Given the description of an element on the screen output the (x, y) to click on. 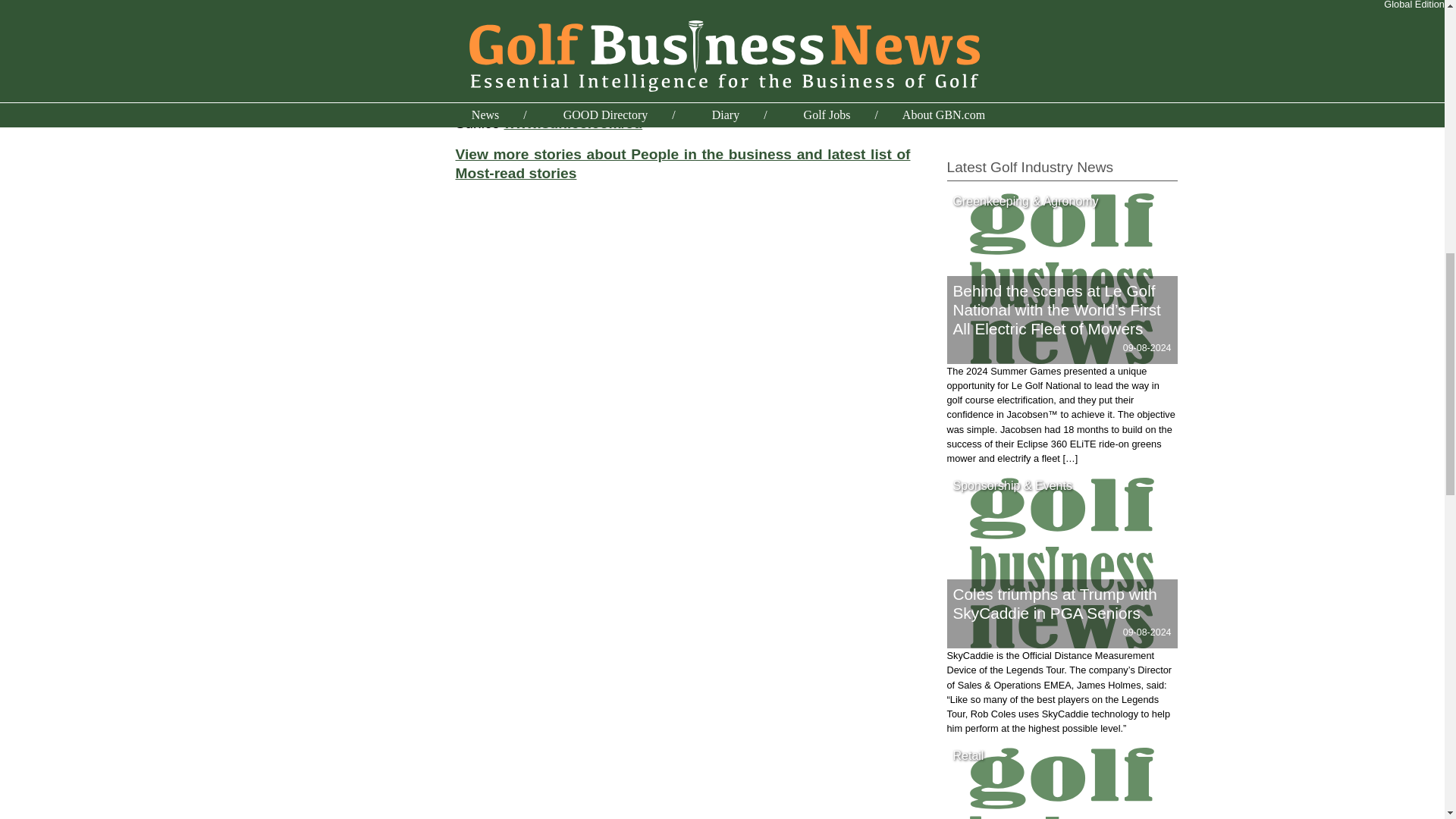
Syngenta (973, 74)
Seventy2 Golf (986, 7)
Retail (968, 755)
ZEN GREEN STAGE (1003, 110)
Simon Gidman Golf Course Architects (1056, 25)
